Given the description of an element on the screen output the (x, y) to click on. 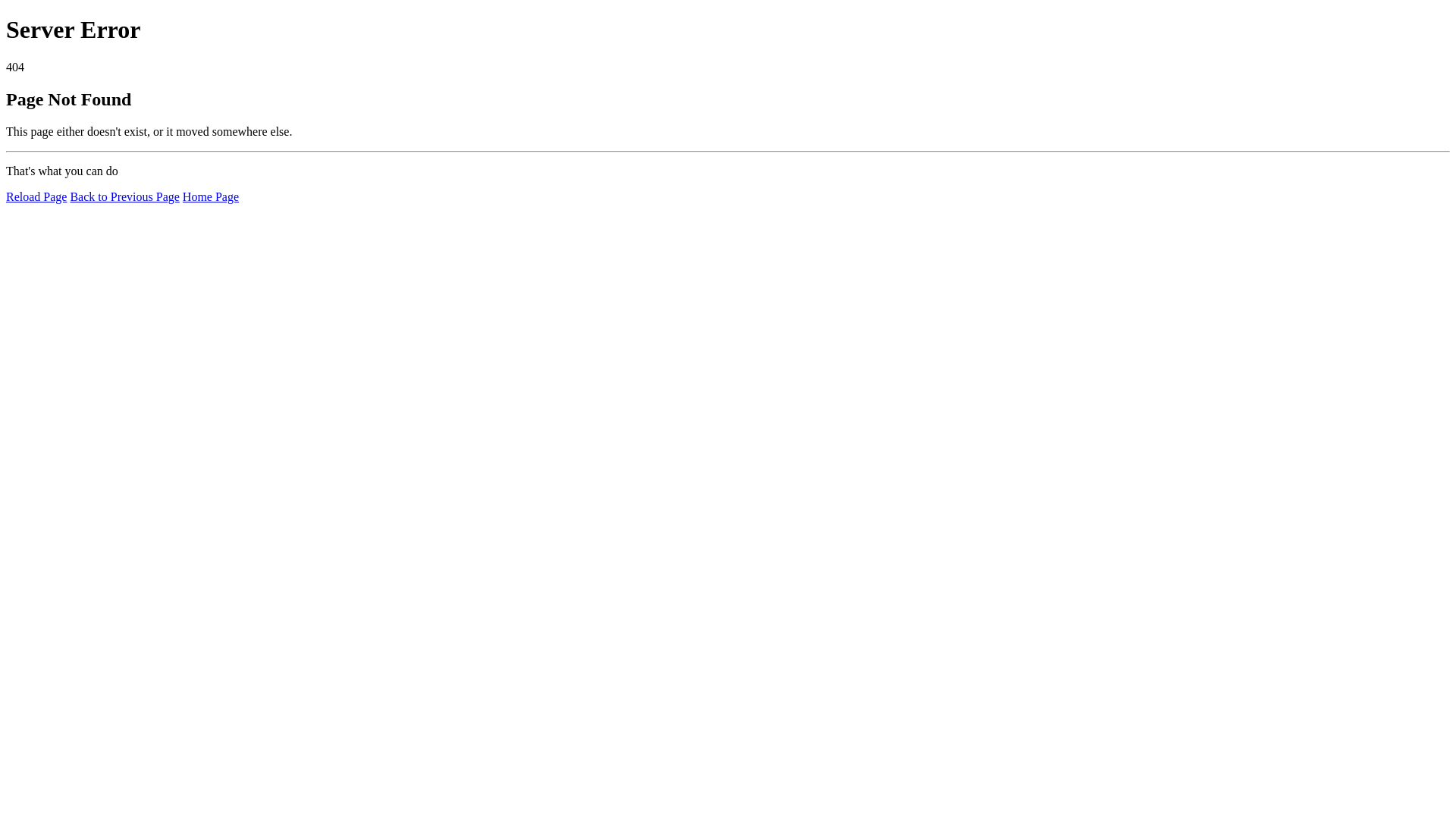
Reload Page Element type: text (36, 196)
Back to Previous Page Element type: text (123, 196)
Home Page Element type: text (210, 196)
